Given the description of an element on the screen output the (x, y) to click on. 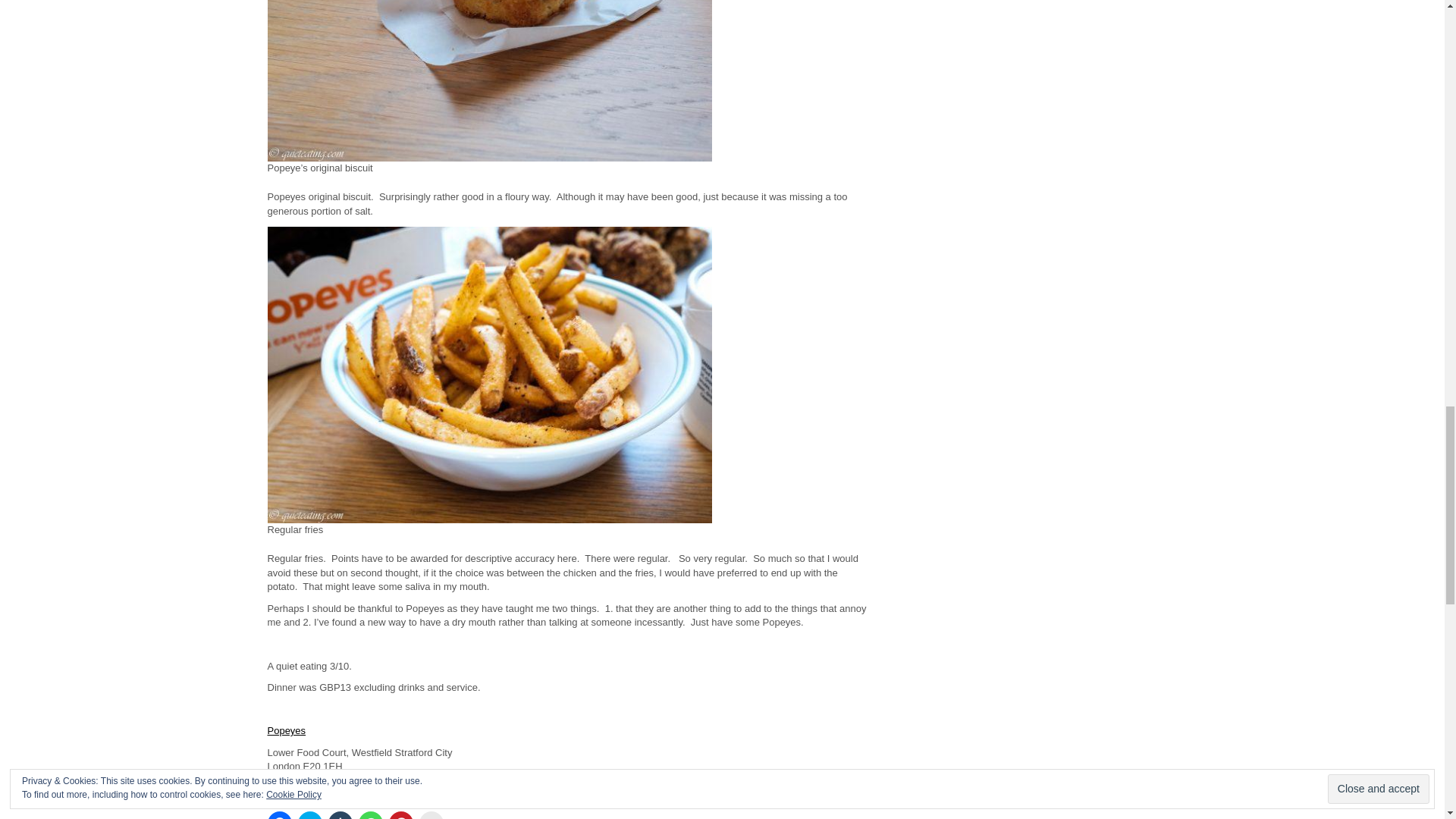
Popeyes (285, 730)
Click to share on Pinterest (400, 815)
Click to share on Facebook (278, 815)
Click to share on WhatsApp (369, 815)
Click to share on Tumblr (339, 815)
Click to email a link to a friend (430, 815)
Click to share on Twitter (309, 815)
